Given the description of an element on the screen output the (x, y) to click on. 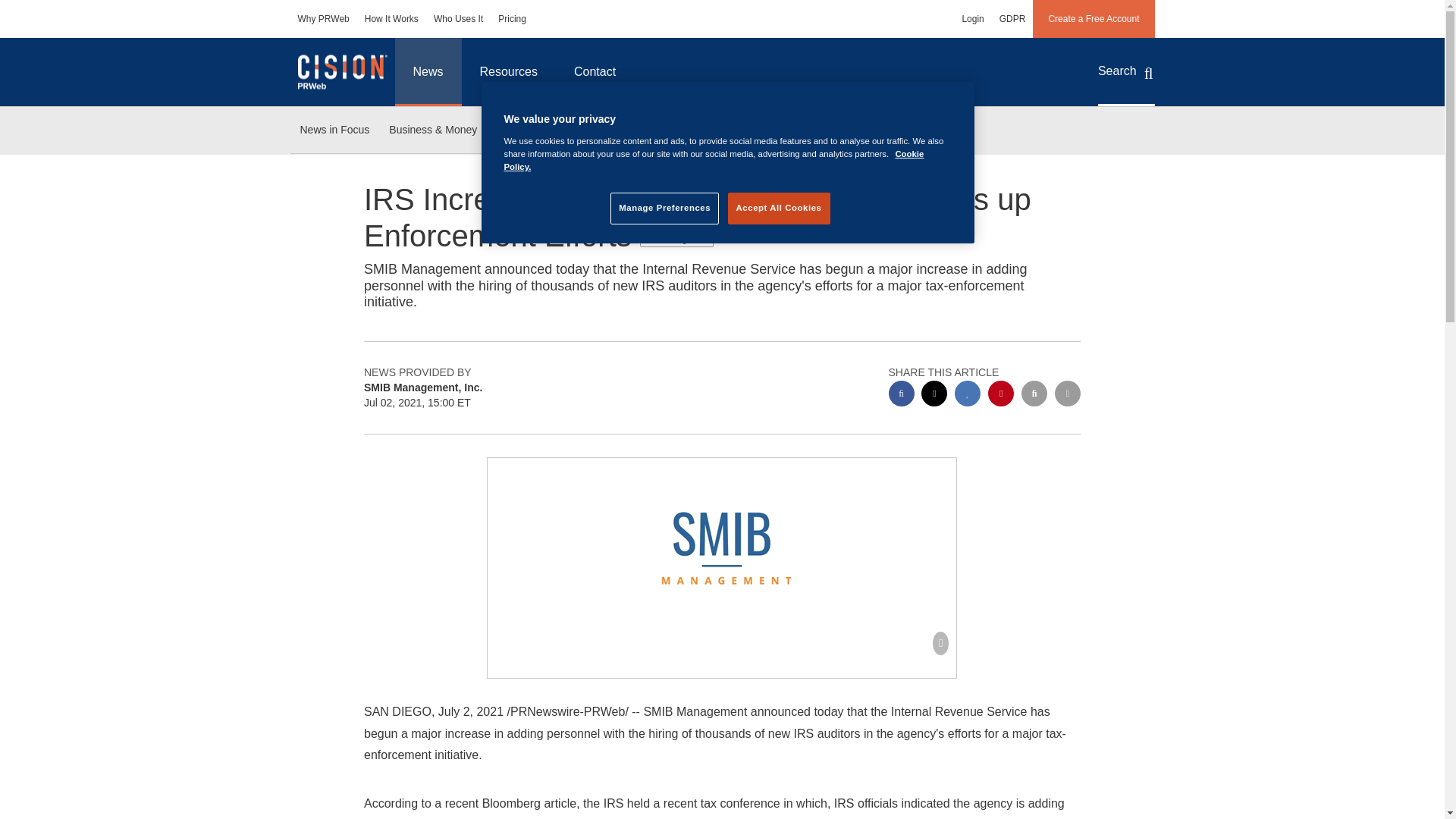
News in Focus (333, 130)
